Given the description of an element on the screen output the (x, y) to click on. 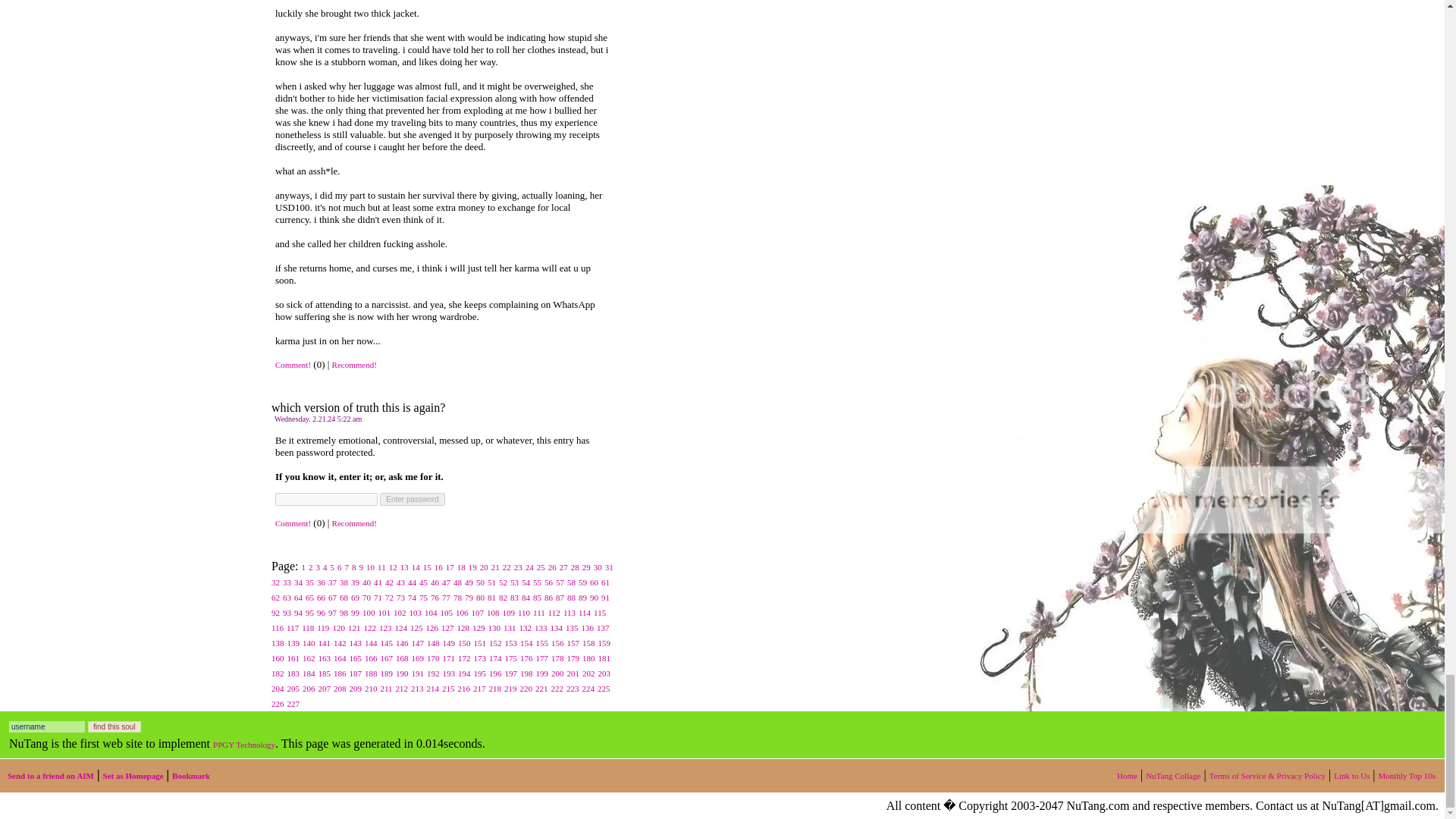
Enter password (412, 499)
find this soul (114, 726)
username (46, 726)
